Given the description of an element on the screen output the (x, y) to click on. 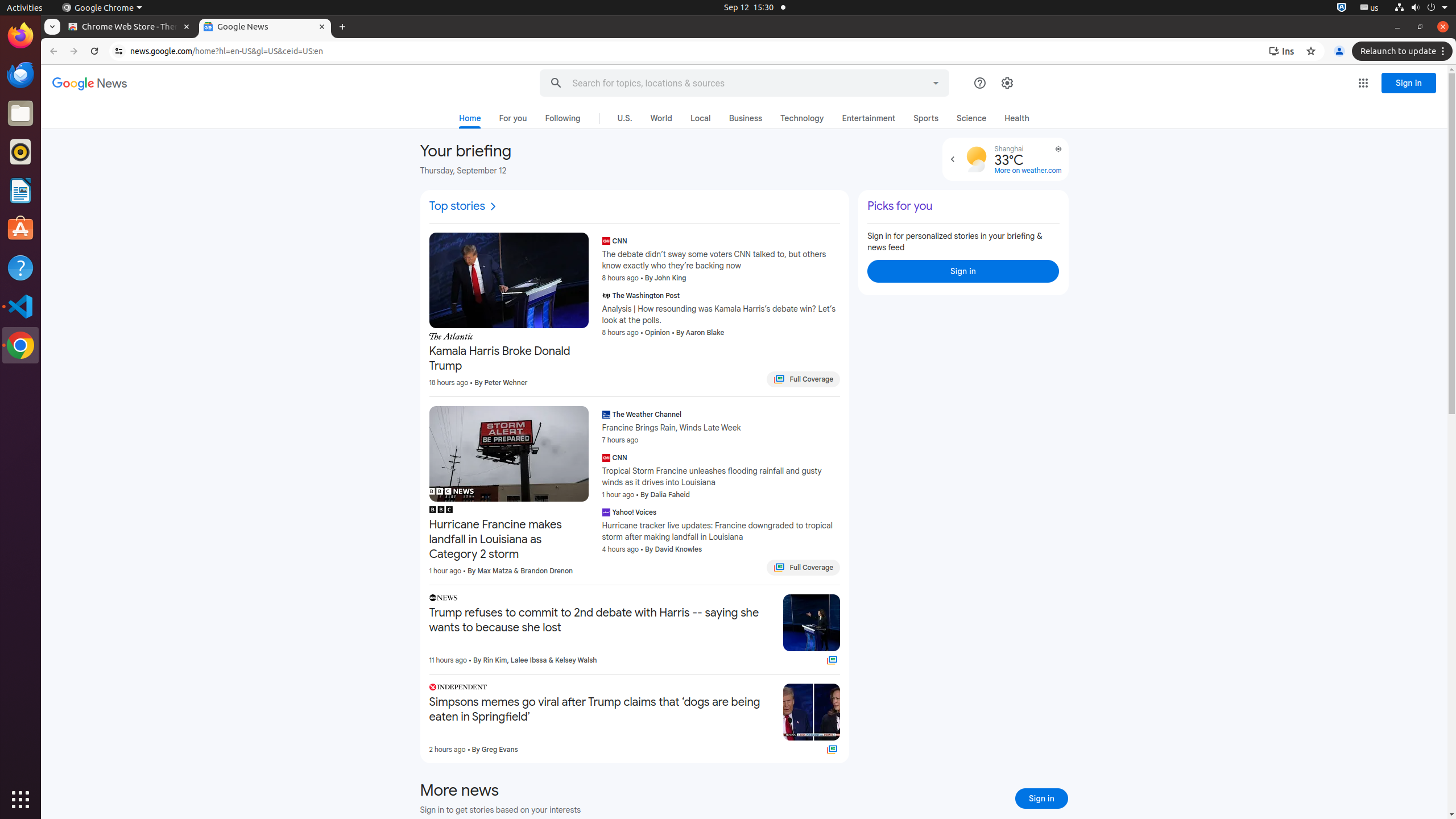
More - Analysis | How resounding was Kamala Harris’s debate win? Let’s look at the polls. Element type: push-button (836, 296)
More - Kamala Harris Broke Donald Trump Element type: push-button (584, 337)
More - The debate didn’t sway some voters CNN talked to, but others know exactly who they’re backing now Element type: push-button (836, 242)
View site information Element type: push-button (118, 51)
Reload Element type: push-button (94, 50)
